Given the description of an element on the screen output the (x, y) to click on. 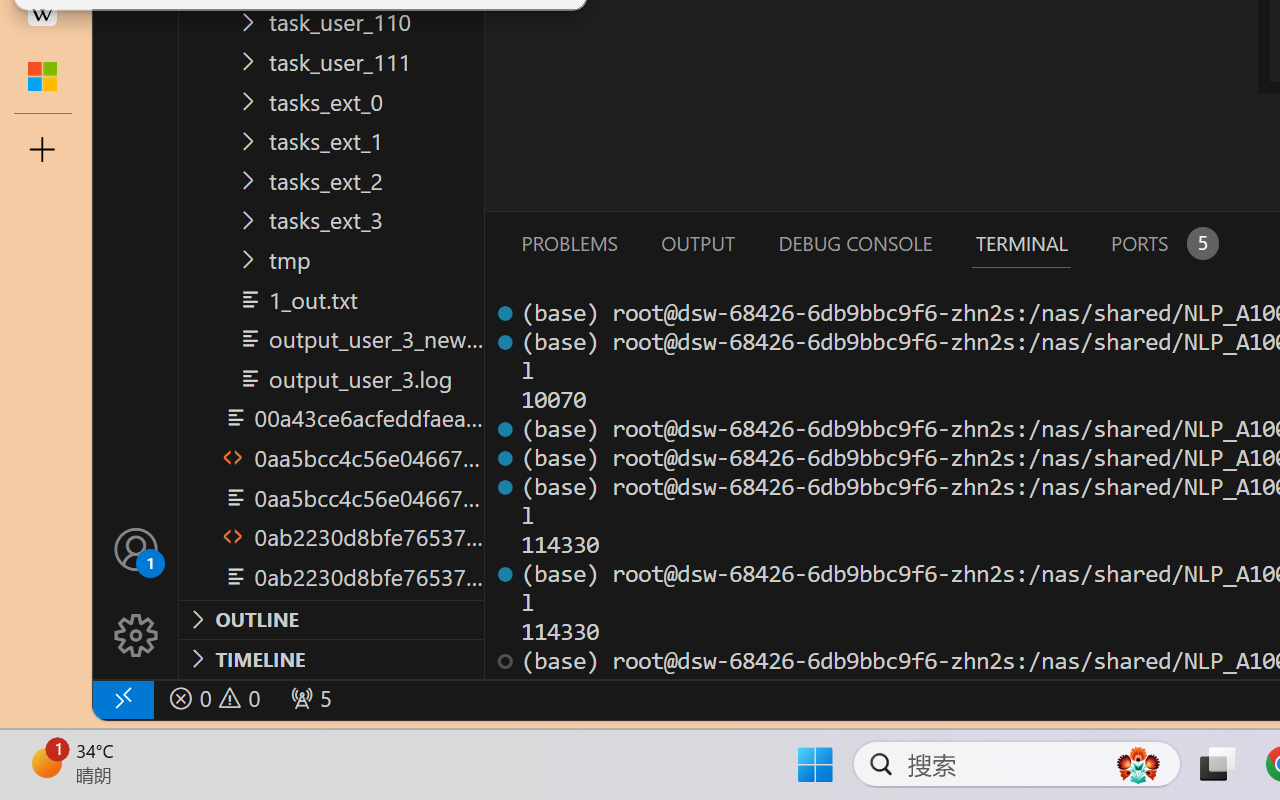
Timeline Section (331, 658)
No Problems (212, 698)
Manage (135, 591)
Outline Section (331, 619)
Terminal (Ctrl+`) (1021, 243)
Output (Ctrl+Shift+U) (696, 243)
Debug Console (Ctrl+Shift+Y) (854, 243)
